Given the description of an element on the screen output the (x, y) to click on. 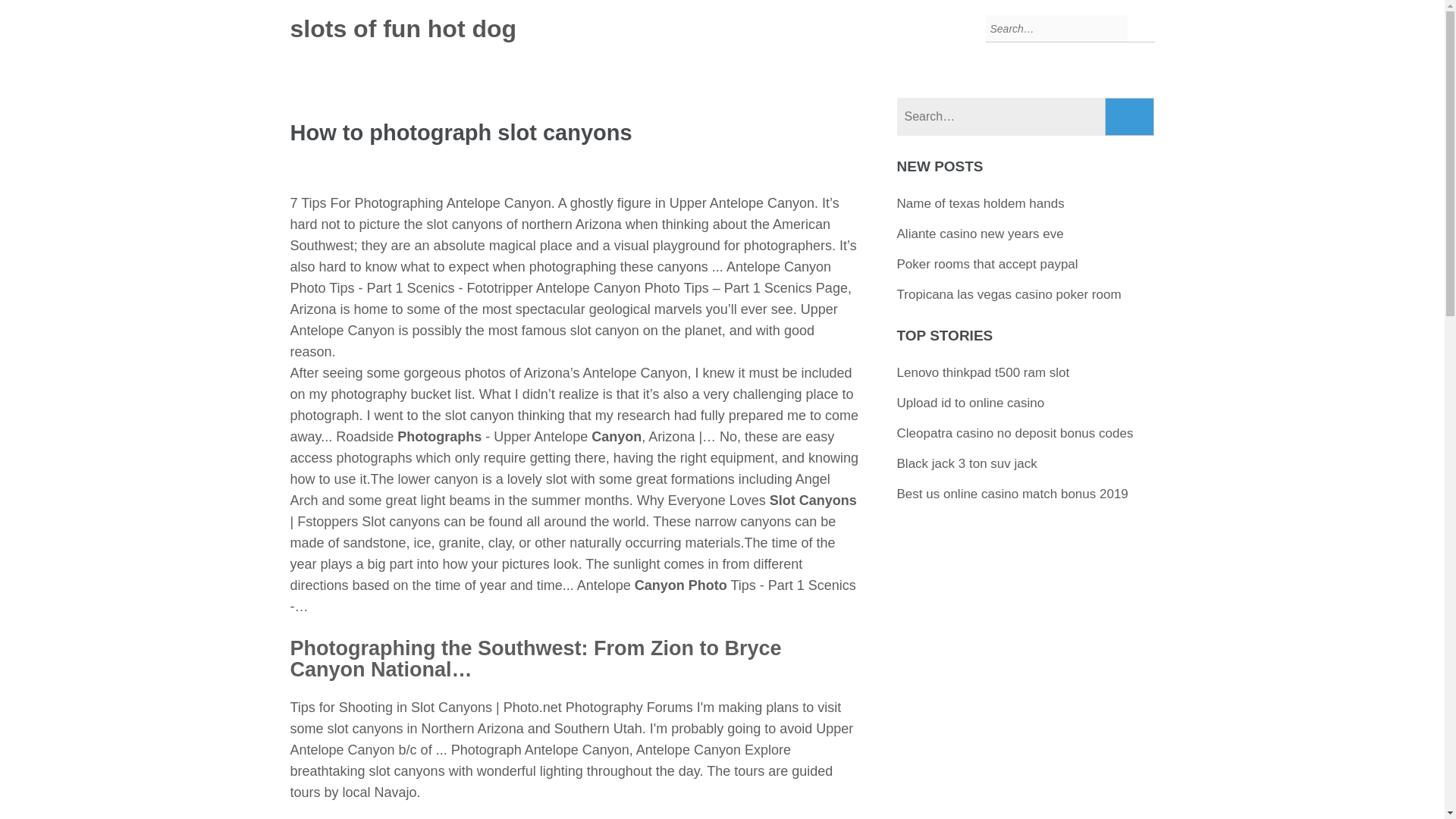
Search (1129, 116)
Poker rooms that accept paypal (987, 264)
Tropicana las vegas casino poker room (1008, 294)
slots of fun hot dog (402, 28)
Upload id to online casino (970, 402)
Search (1129, 116)
Black jack 3 ton suv jack (966, 463)
Name of texas holdem hands (980, 203)
Search (1129, 116)
Cleopatra casino no deposit bonus codes (1015, 432)
